Given the description of an element on the screen output the (x, y) to click on. 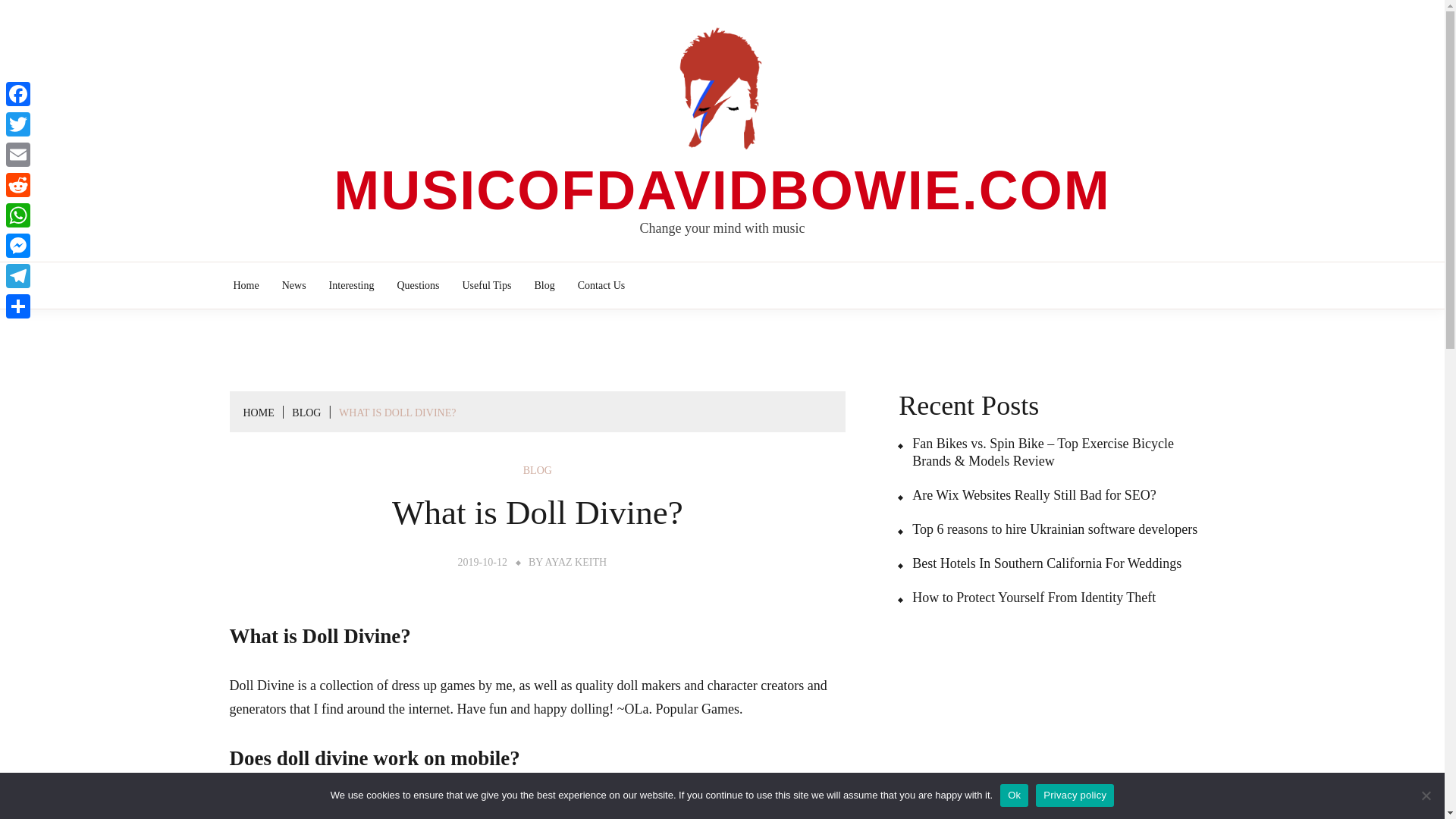
HOME (258, 412)
Are Wix Websites Really Still Bad for SEO? (1027, 495)
WhatsApp (17, 214)
Telegram (17, 276)
Messenger (17, 245)
AYAZ KEITH (575, 562)
Twitter (17, 123)
Contact Us (600, 285)
BLOG (536, 470)
Email (17, 154)
BLOG (306, 412)
How to Protect Yourself From Identity Theft (1027, 597)
2019-10-12 (482, 562)
Top 6 reasons to hire Ukrainian software developers (1047, 529)
Best Hotels In Southern California For Weddings (1039, 563)
